Given the description of an element on the screen output the (x, y) to click on. 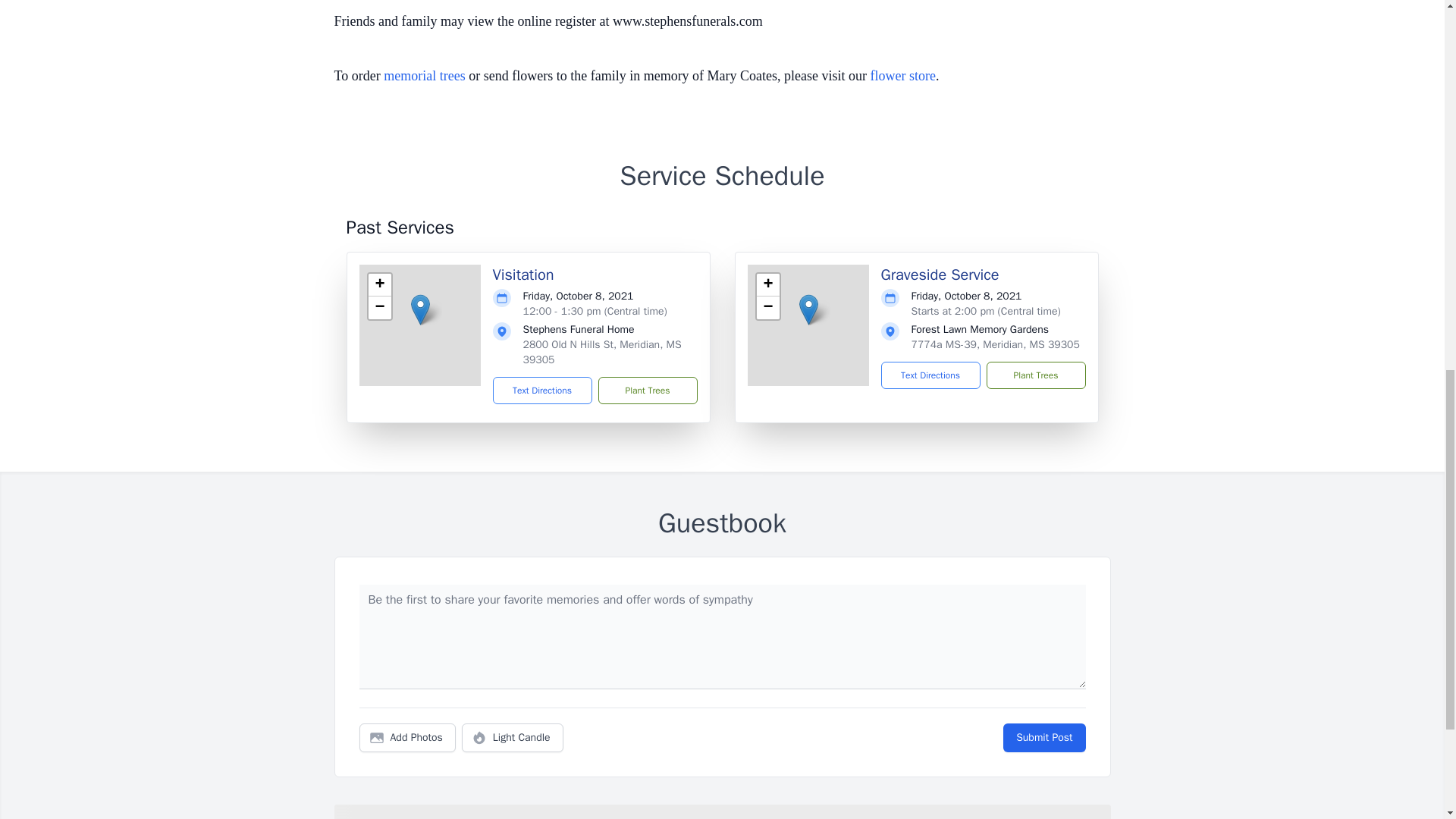
Text Directions (929, 375)
Plant Trees (1034, 375)
Zoom out (767, 307)
Zoom out (379, 307)
Submit Post (1043, 737)
Plant Trees (646, 390)
Zoom in (767, 284)
Zoom in (379, 284)
flower store (903, 75)
Text Directions (542, 390)
